Given the description of an element on the screen output the (x, y) to click on. 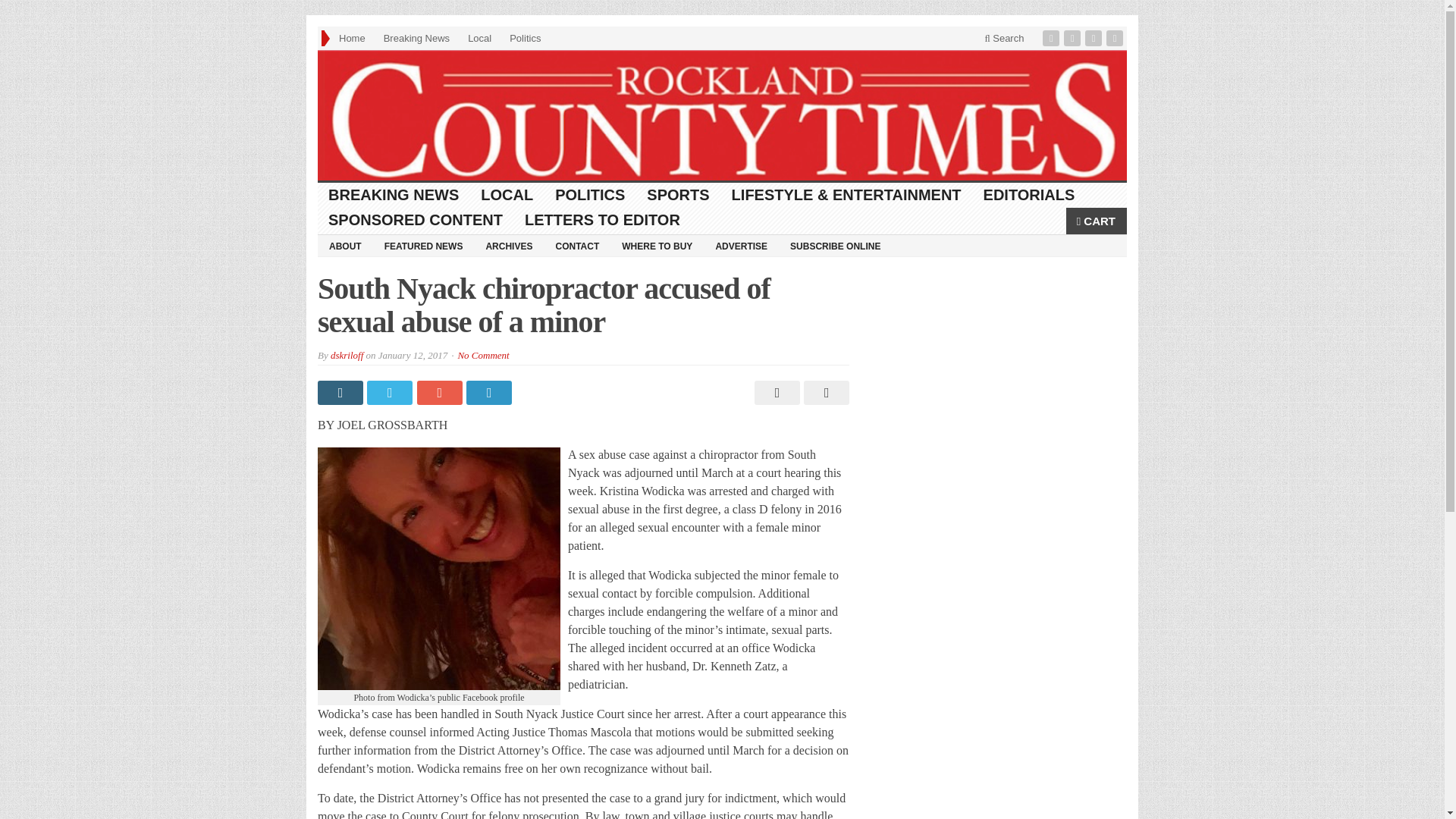
CART (1095, 221)
Politics (525, 37)
FEATURED NEWS (423, 245)
LOCAL (507, 195)
LETTERS TO EDITOR (602, 220)
Breaking News (416, 37)
ADVERTISE (740, 245)
Search (1003, 37)
EDITORIALS (1029, 195)
dskriloff (346, 355)
SUBSCRIBE ONLINE (834, 245)
SPONSORED CONTENT (415, 220)
BREAKING NEWS (393, 195)
ABOUT (344, 245)
Local (479, 37)
